Given the description of an element on the screen output the (x, y) to click on. 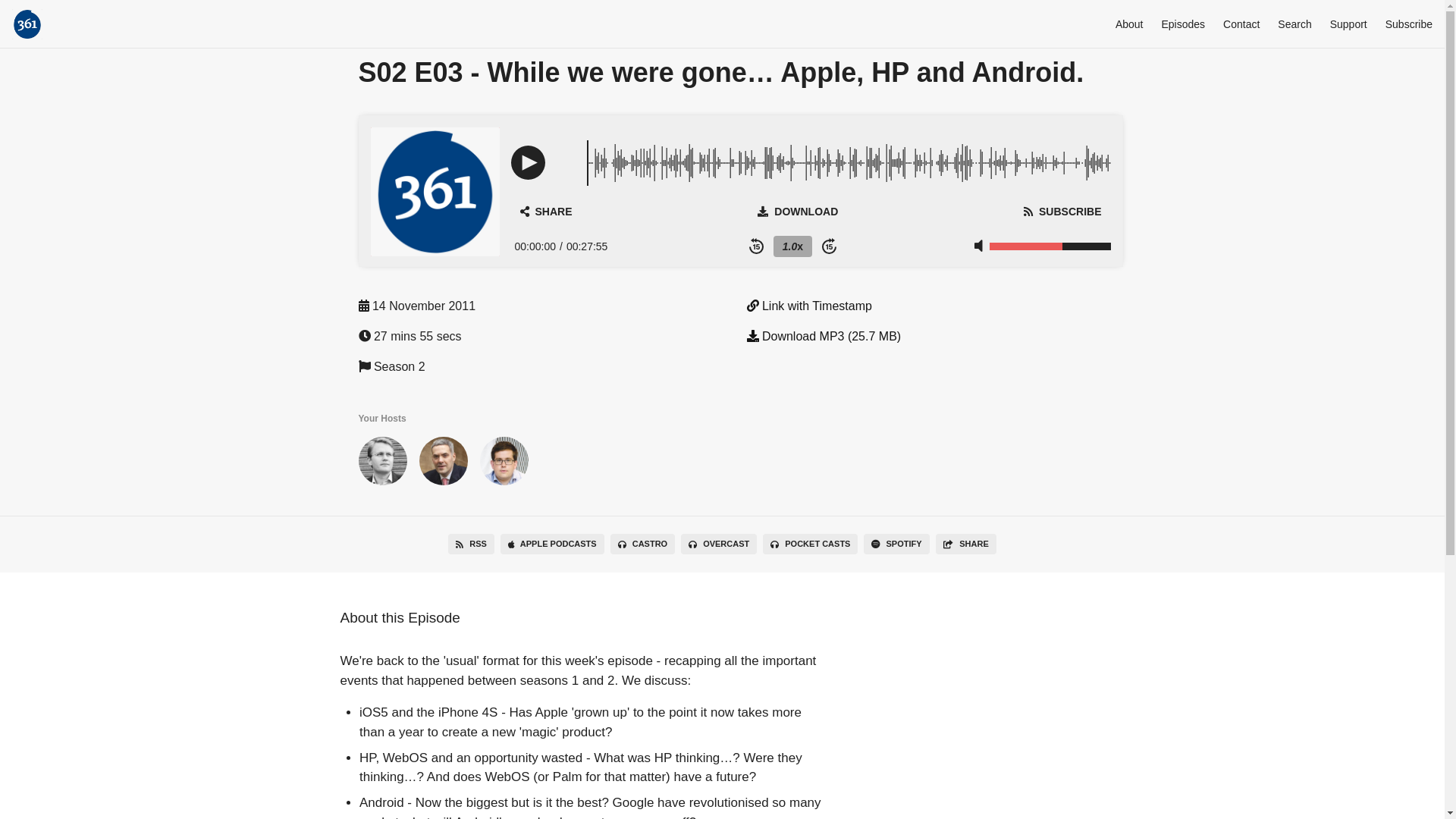
Subscribe Element type: text (1408, 24)
Ben Smith Element type: hover (381, 463)
1.0x Element type: text (792, 246)
DOWNLOAD Element type: text (797, 211)
Support Element type: text (1348, 24)
Ewan MacLeod Element type: hover (442, 463)
OVERCAST Element type: text (718, 543)
CASTRO Element type: text (642, 543)
Link with Timestamp Element type: text (808, 305)
Download MP3 (25.7 MB) Element type: text (823, 335)
Rafe Blandford Element type: hover (503, 463)
Search Element type: text (1294, 24)
RSS Element type: text (471, 543)
About Element type: text (1129, 24)
SHARE Element type: text (546, 211)
POCKET CASTS Element type: text (809, 543)
Episodes Element type: text (1182, 24)
APPLE PODCASTS Element type: text (552, 543)
SHARE Element type: text (965, 543)
SUBSCRIBE Element type: text (1062, 211)
SPOTIFY Element type: text (895, 543)
Contact Element type: text (1241, 24)
